Given the description of an element on the screen output the (x, y) to click on. 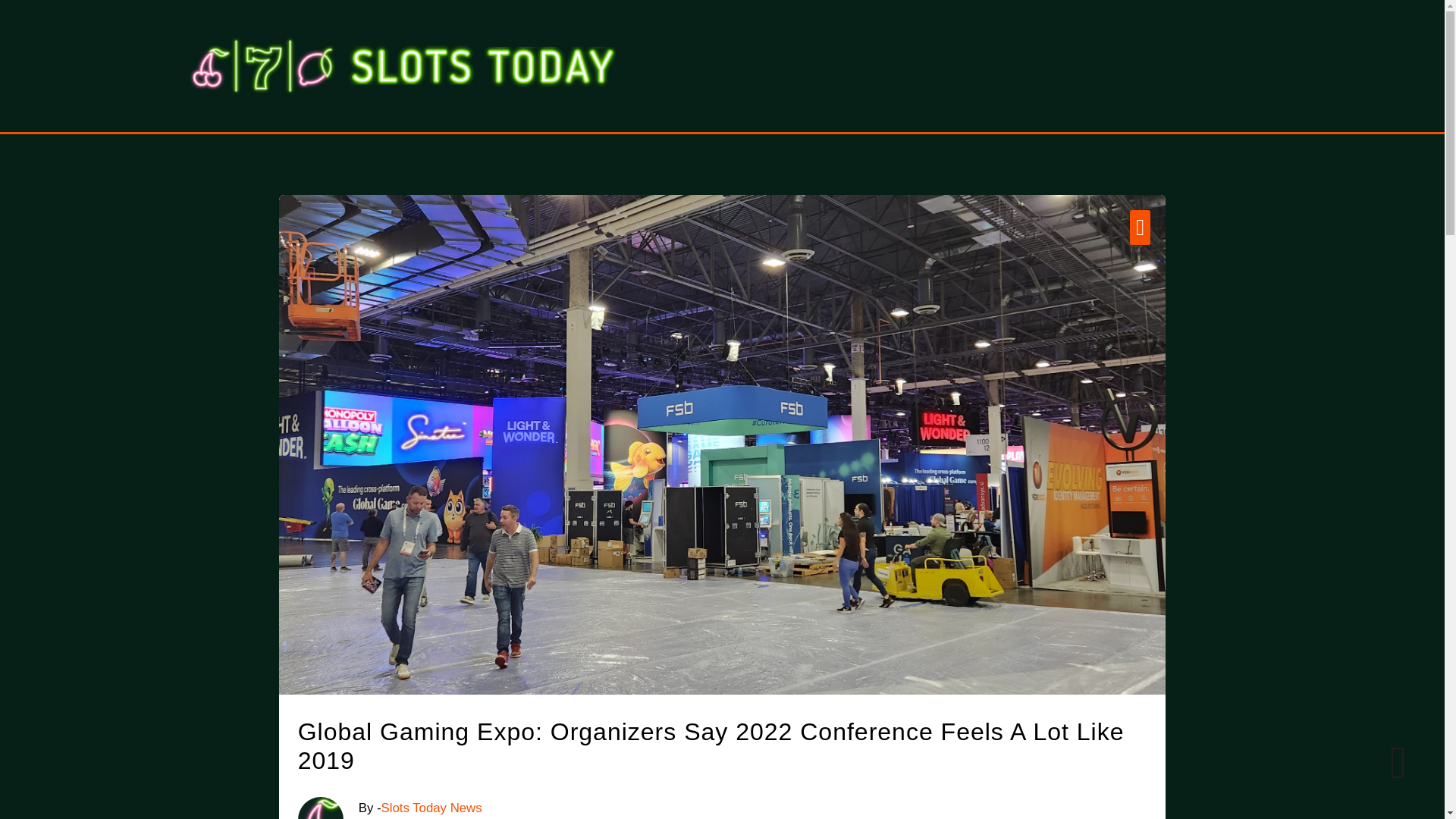
Slots Today News (431, 807)
